Given the description of an element on the screen output the (x, y) to click on. 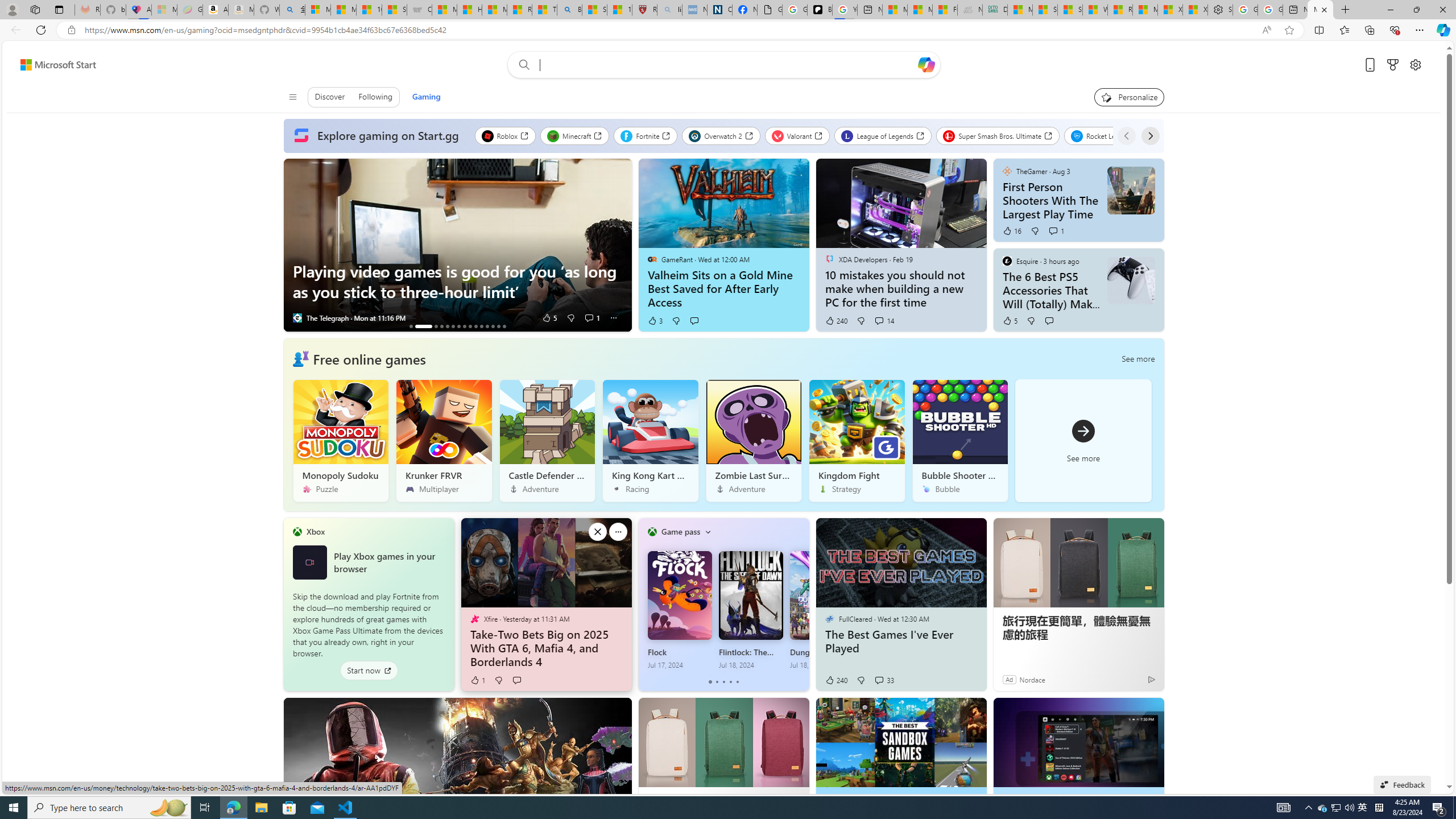
Class: background-image-ntp-v2 (959, 422)
DITOGAMES AG Imprint (993, 9)
Google Analytics Opt-out Browser Add-on Download Page (769, 9)
Super Smash Bros. Ultimate (997, 135)
Next (1149, 135)
Free online games See more (723, 424)
Valorant (796, 135)
To get missing image descriptions, open the context menu. (651, 531)
Bing (568, 9)
TheGamer (1006, 171)
